Given the description of an element on the screen output the (x, y) to click on. 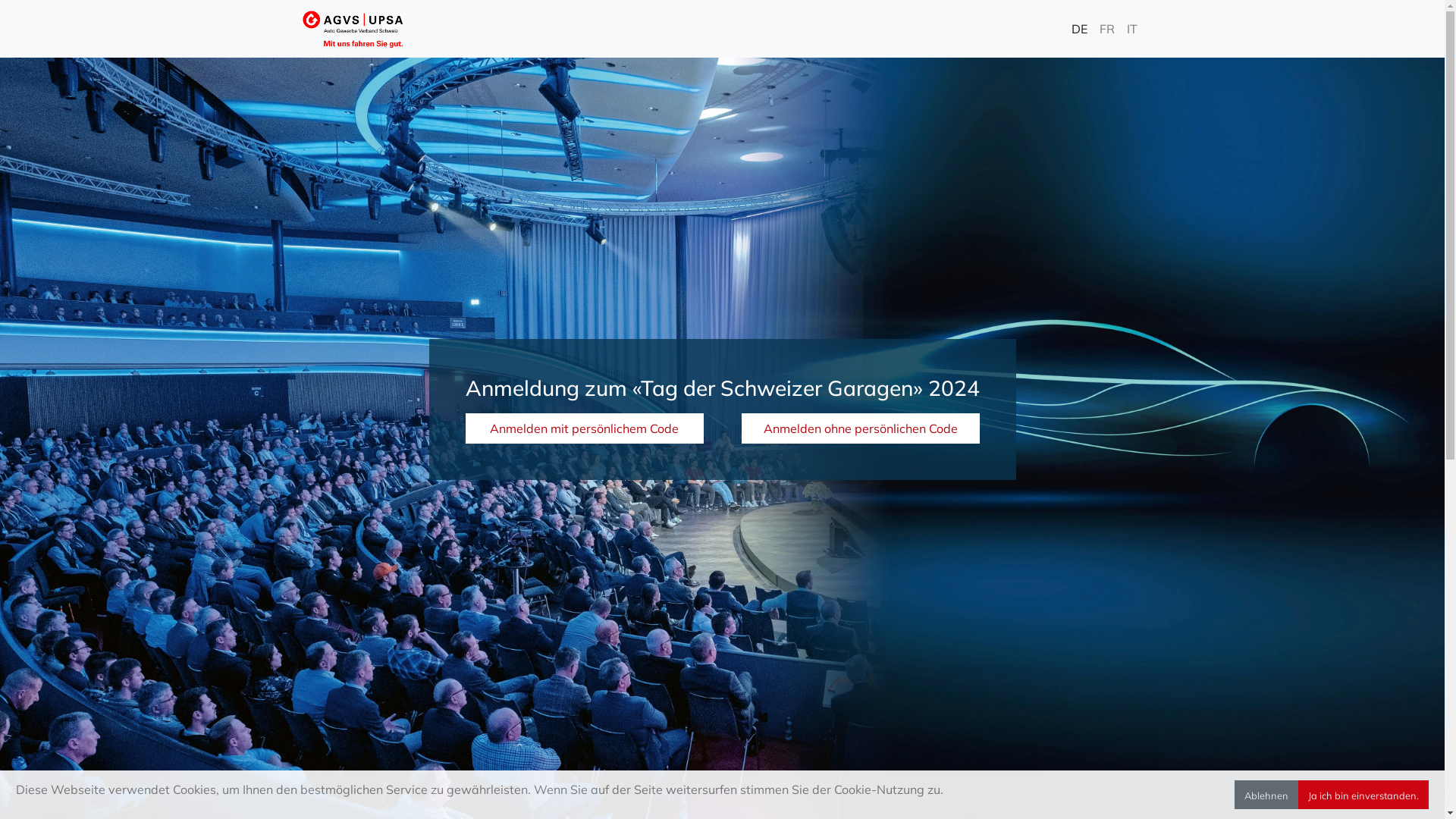
IT Element type: text (1131, 28)
Ja ich bin einverstanden. Element type: text (1363, 794)
FR Element type: text (1106, 28)
Ablehnen Element type: text (1266, 794)
DE Element type: text (1078, 28)
